Given the description of an element on the screen output the (x, y) to click on. 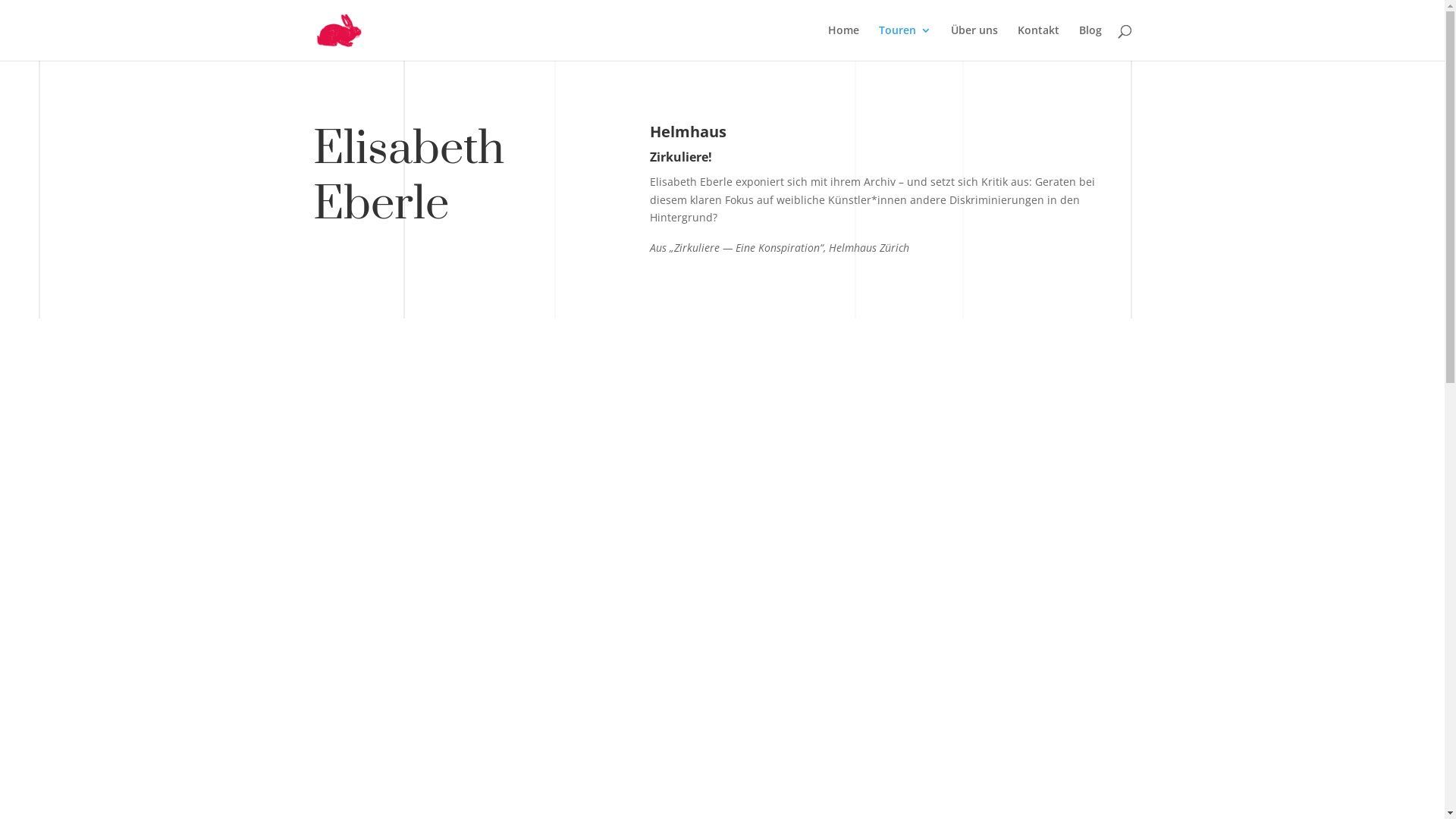
Blog Element type: text (1089, 42)
Kontakt Element type: text (1038, 42)
Home Element type: text (843, 42)
Touren Element type: text (904, 42)
